Given the description of an element on the screen output the (x, y) to click on. 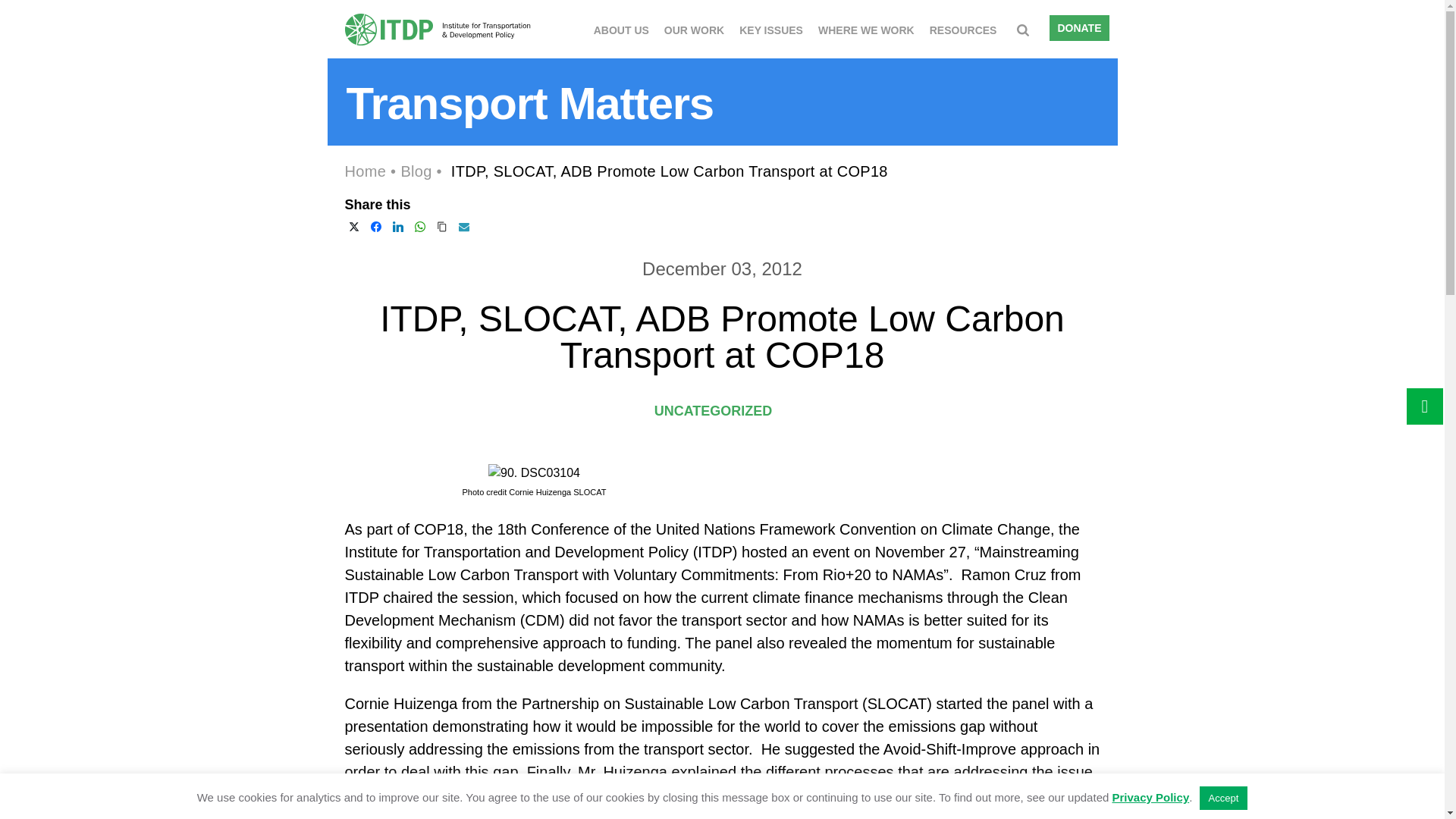
Share on X (352, 226)
KEY ISSUES (771, 28)
OUR WORK (693, 28)
Share on our Mailing List (463, 226)
DONATE (1078, 27)
ABOUT US (621, 28)
Share on WhatsApp (419, 226)
WHERE WE WORK (866, 28)
Share on Linkedin (397, 226)
Blog (415, 170)
Home (364, 170)
RESOURCES (963, 28)
Share on Link Copy (440, 226)
Share on Facebook (375, 226)
